Given the description of an element on the screen output the (x, y) to click on. 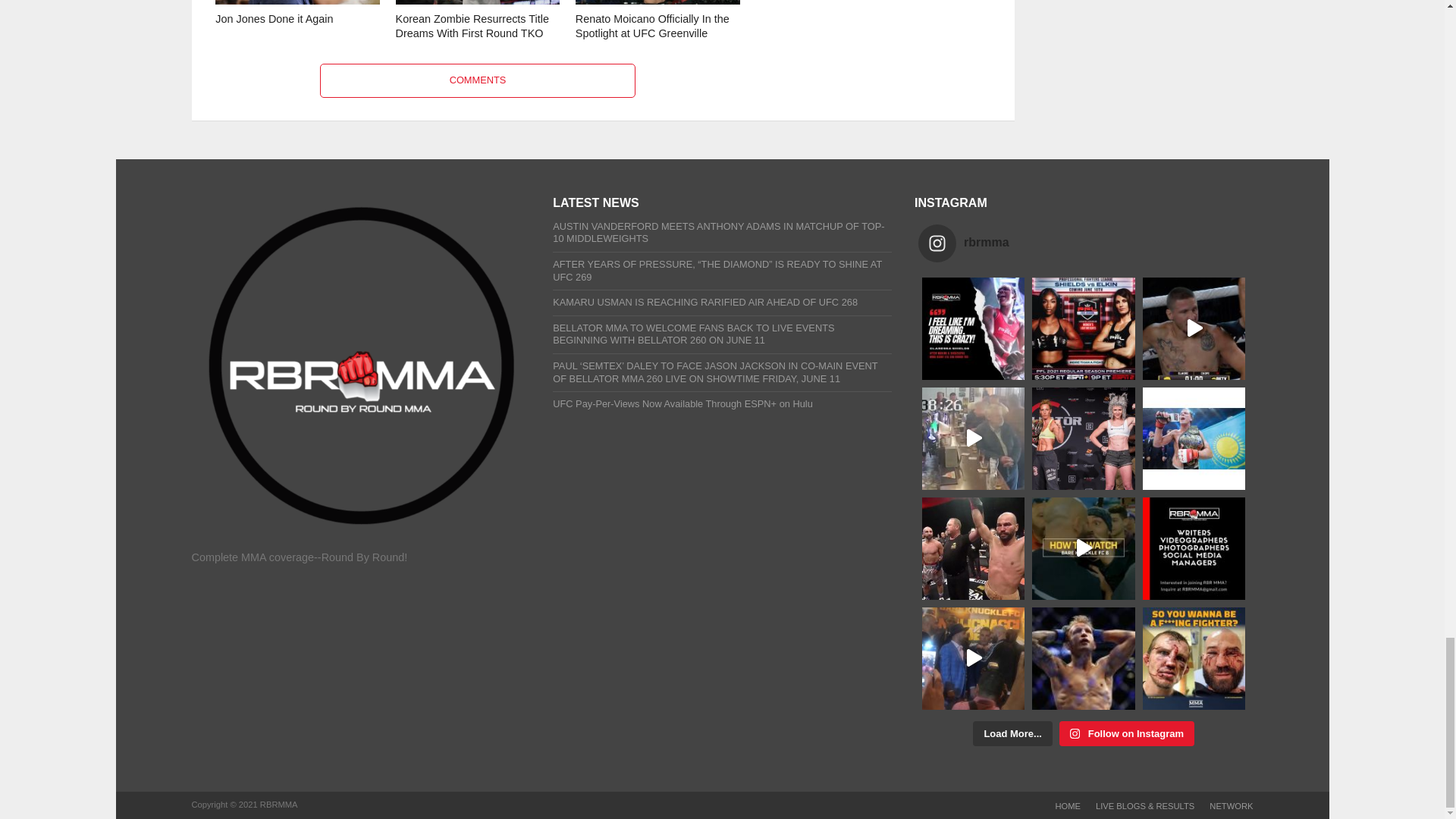
Renato Moicano Officially In the Spotlight at UFC Greenville (657, 3)
Korean Zombie Resurrects Title Dreams With First Round TKO (478, 3)
Jon Jones Done it Again (297, 3)
